Given the description of an element on the screen output the (x, y) to click on. 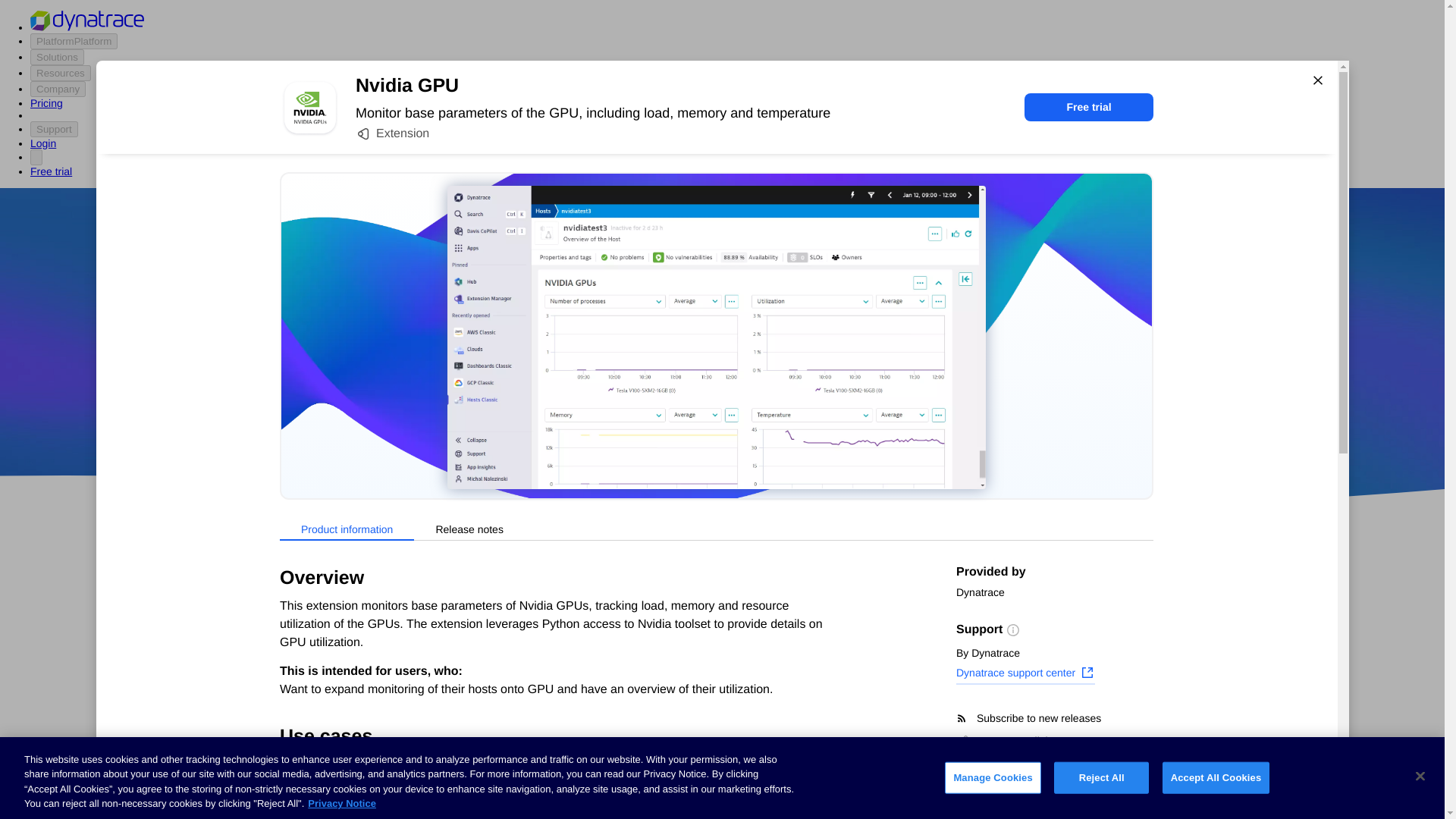
AWS (637, 418)
DevOps (829, 418)
Get data into Dynatrace (325, 641)
Copy page link (1003, 740)
Istio Service Mesh (842, 723)
 Envoy Istio Kubernetes Service Mesh (841, 778)
Subscribe to new releases (1054, 718)
Build your own app (314, 669)
Google Cloud (751, 418)
Wipro (840, 375)
Kubernetes (295, 755)
Dynatrace support center (1025, 674)
 artificial-intelligence machine-learning (607, 778)
Azure (681, 418)
Open source (903, 418)
